Given the description of an element on the screen output the (x, y) to click on. 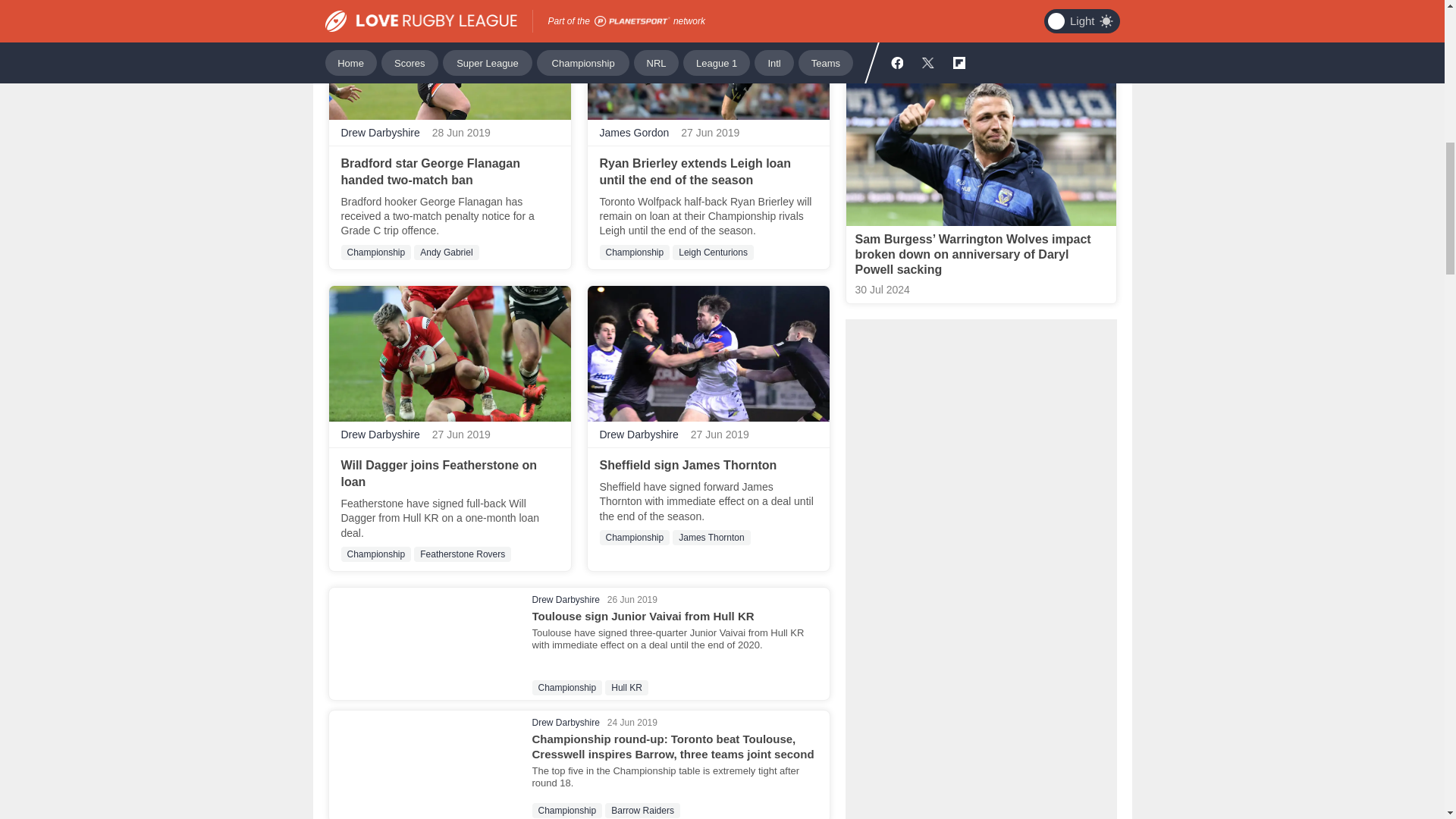
Championship (376, 252)
Bradford star George Flanagan handed two-match ban (430, 171)
Drew Darbyshire (380, 132)
